Given the description of an element on the screen output the (x, y) to click on. 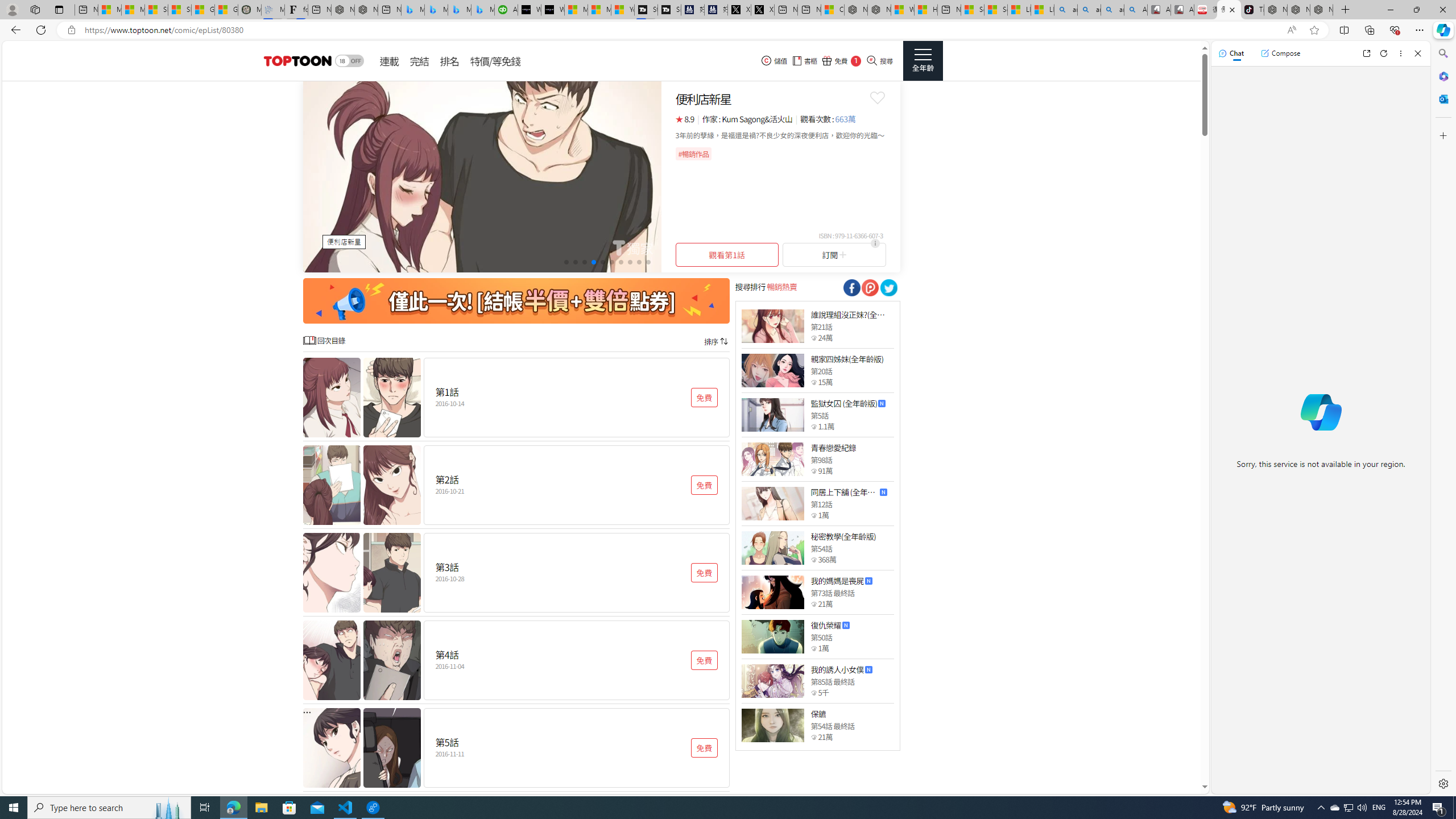
Wildlife - MSN (902, 9)
Class: side_menu_btn actionRightMenuBtn (922, 60)
Class:  switch_18mode actionAdultBtn (349, 60)
Settings (1442, 783)
Close (1417, 53)
Go to slide 5 (602, 261)
What's the best AI voice generator? - voice.ai (552, 9)
